Given the description of an element on the screen output the (x, y) to click on. 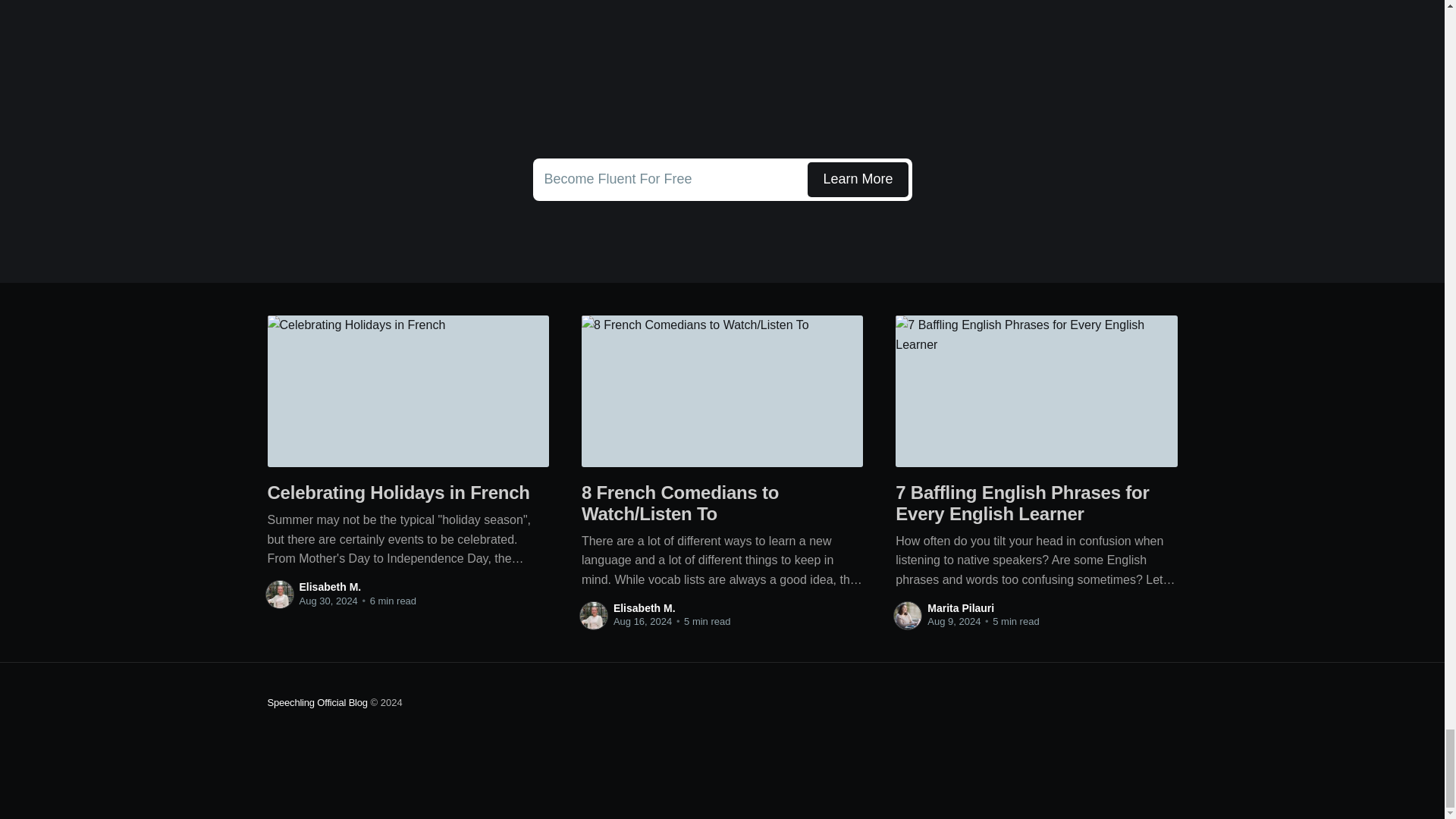
Elisabeth M. (329, 586)
Marita Pilauri (960, 607)
YouTube video player (721, 71)
Elisabeth M. (643, 607)
Speechling Official Blog (721, 179)
